Given the description of an element on the screen output the (x, y) to click on. 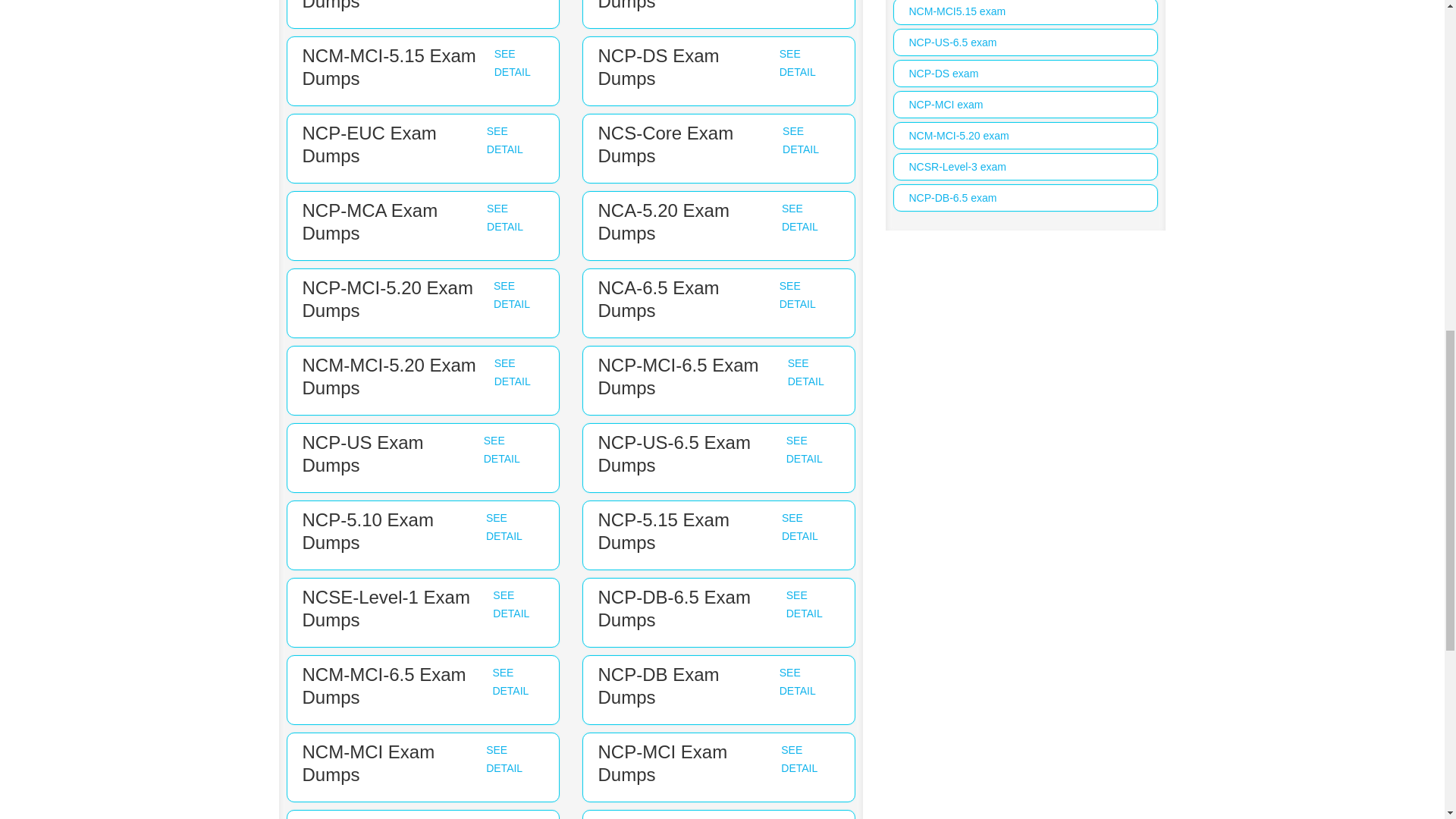
SEE DETAIL (804, 603)
SEE DETAIL (511, 603)
SEE DETAIL (504, 140)
SEE DETAIL (804, 449)
SEE DETAIL (805, 372)
SEE DETAIL (796, 295)
SEE DETAIL (799, 526)
SEE DETAIL (504, 217)
